Given the description of an element on the screen output the (x, y) to click on. 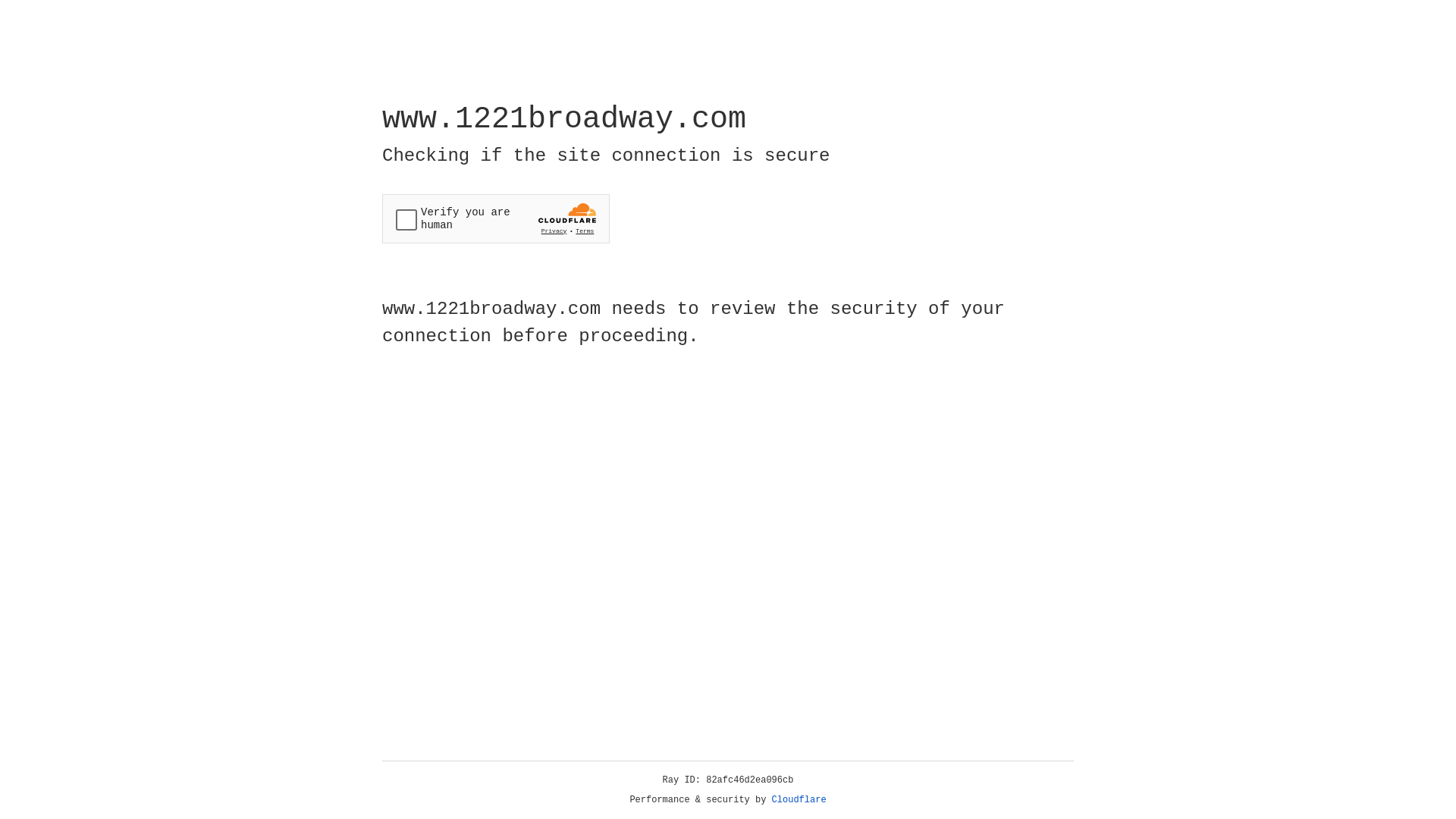
Widget containing a Cloudflare security challenge Element type: hover (495, 218)
Cloudflare Element type: text (798, 799)
